Given the description of an element on the screen output the (x, y) to click on. 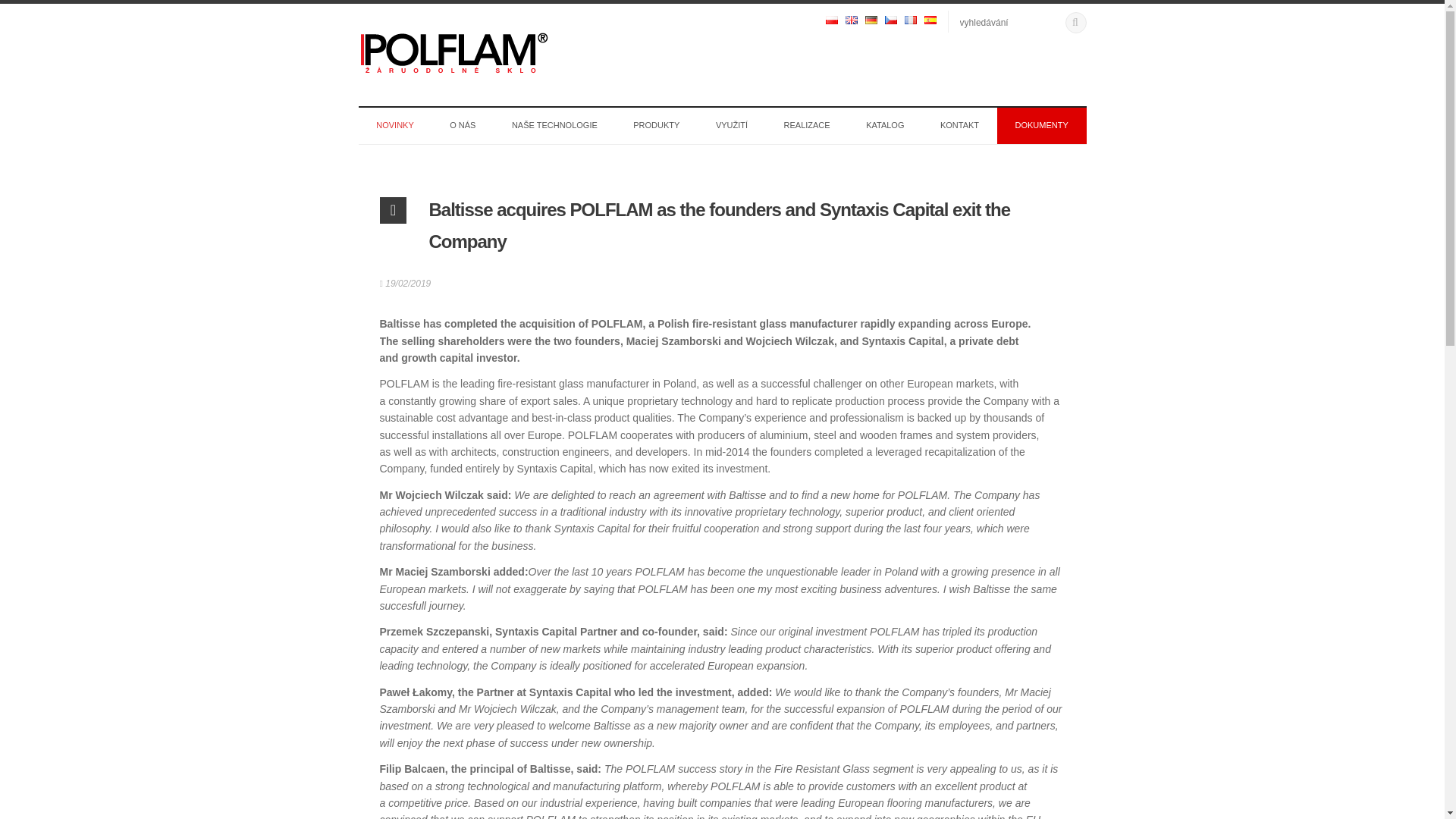
KATALOG (884, 125)
DOKUMENTY (1041, 125)
PRODUKTY (656, 125)
REALIZACE (806, 125)
KONTAKT (959, 125)
NOVINKY (394, 125)
